Given the description of an element on the screen output the (x, y) to click on. 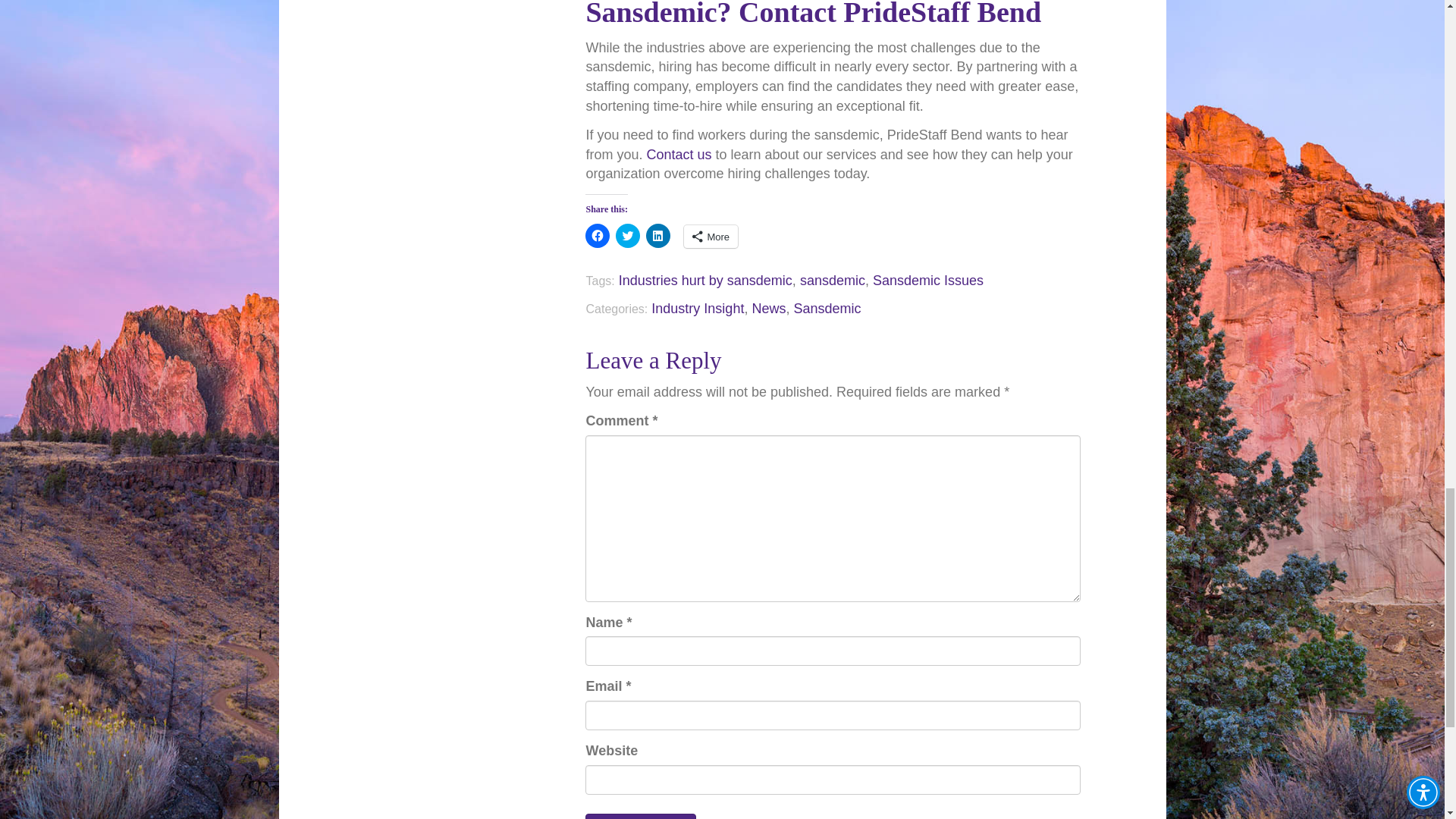
Click to share on Facebook (597, 235)
Click to share on LinkedIn (657, 235)
Post Comment (640, 816)
Click to share on Twitter (627, 235)
